Given the description of an element on the screen output the (x, y) to click on. 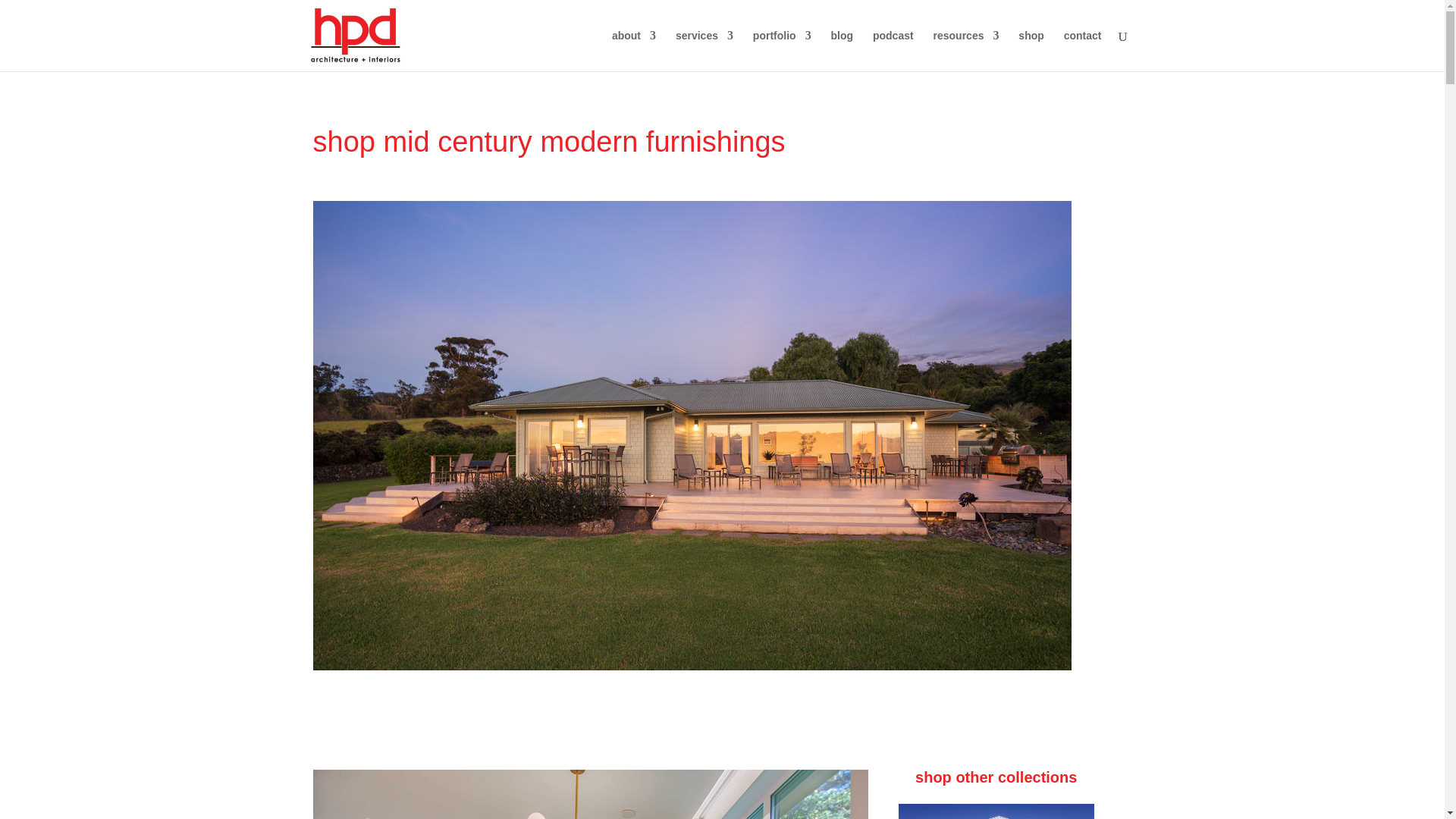
portfolio (781, 50)
resources (965, 50)
blog (842, 50)
shop (1030, 50)
shop-costal (996, 811)
about (633, 50)
services (704, 50)
contact (1083, 50)
Century (590, 794)
podcast (893, 50)
